Given the description of an element on the screen output the (x, y) to click on. 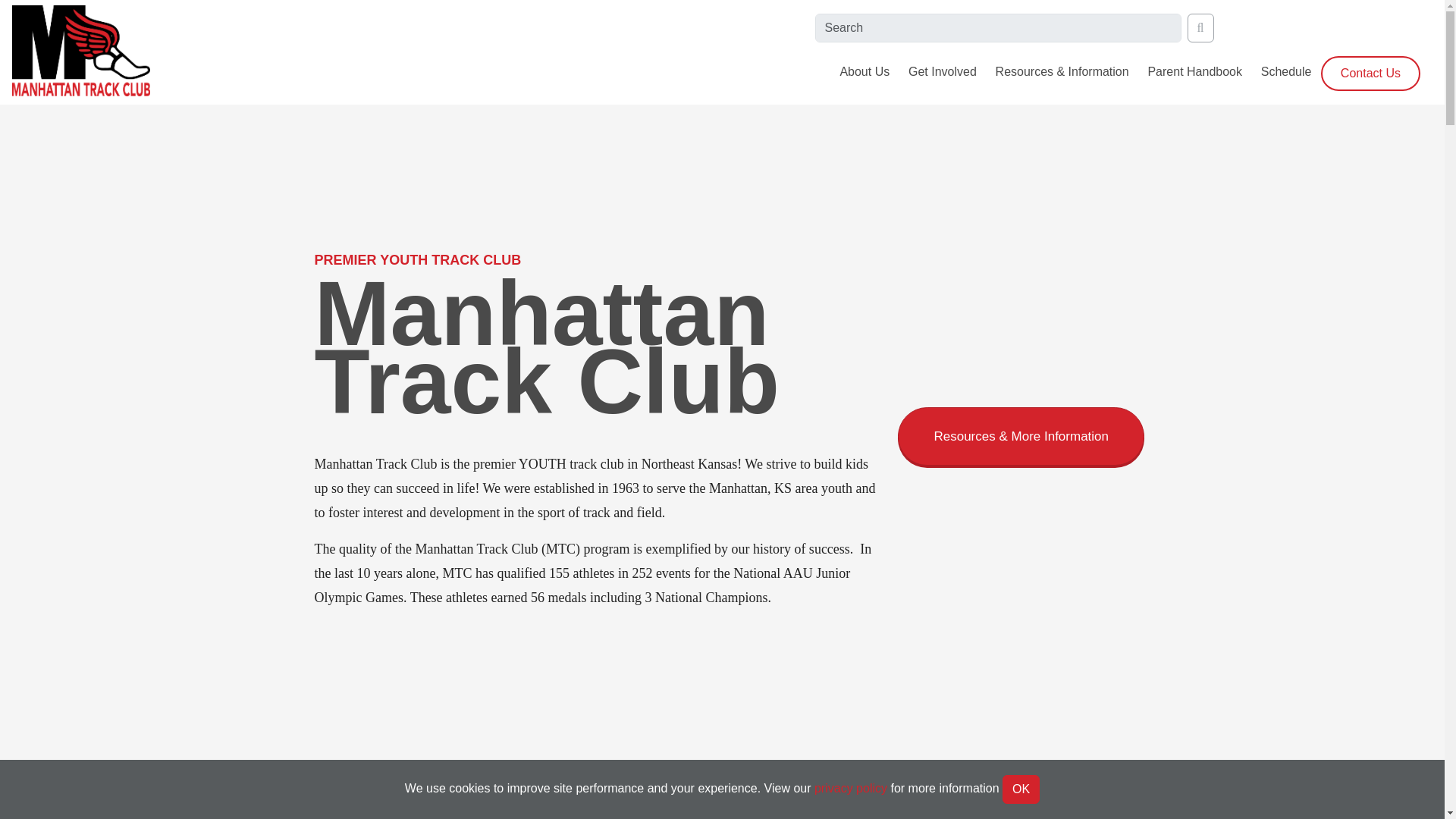
privacy policy (849, 788)
Go home (80, 70)
Get Involved (943, 71)
Contact Us (1370, 73)
OK (1021, 788)
About Us (864, 71)
Schedule (1285, 71)
Parent Handbook (1194, 71)
